Given the description of an element on the screen output the (x, y) to click on. 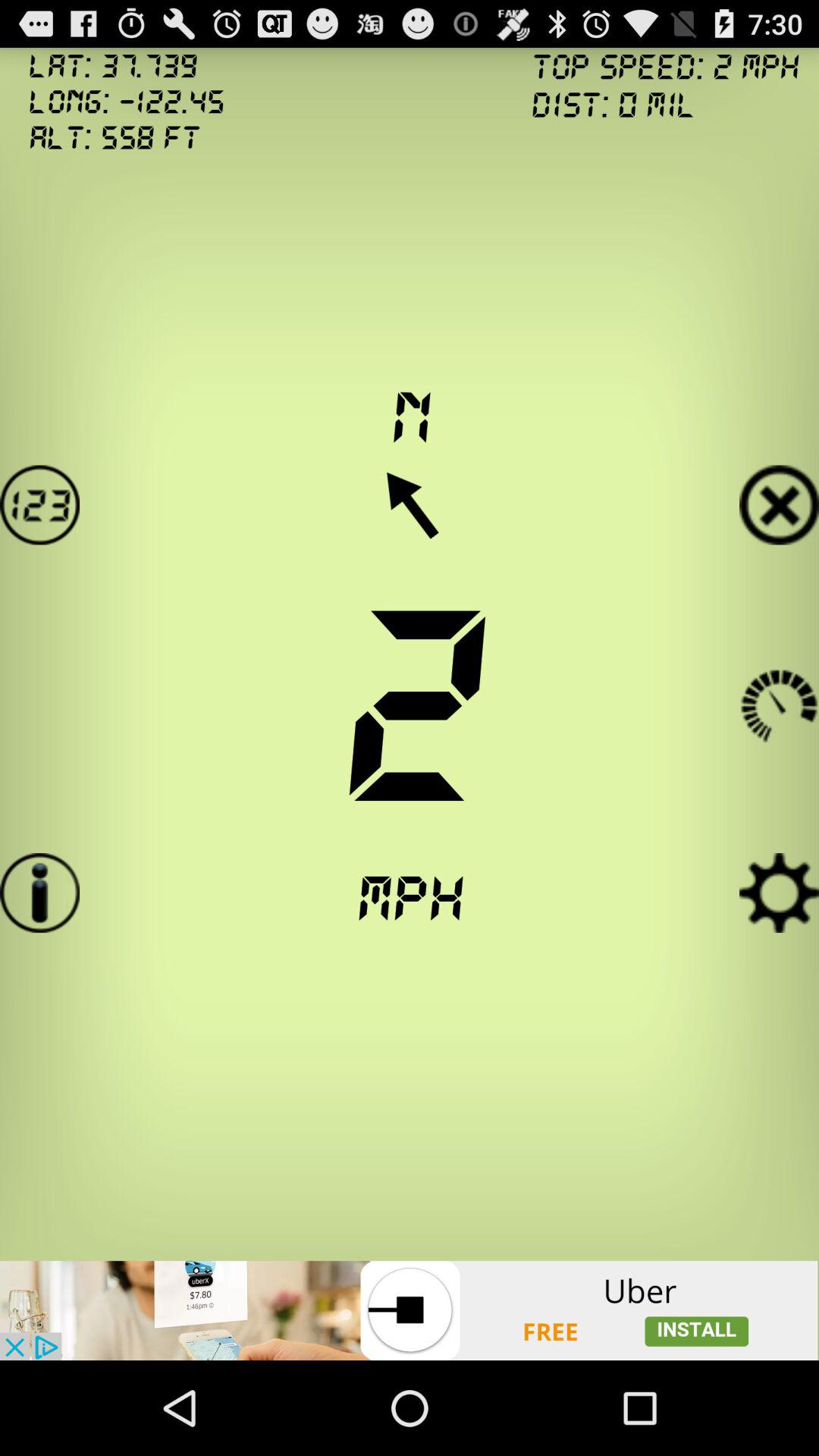
advertise an app (409, 1310)
